Given the description of an element on the screen output the (x, y) to click on. 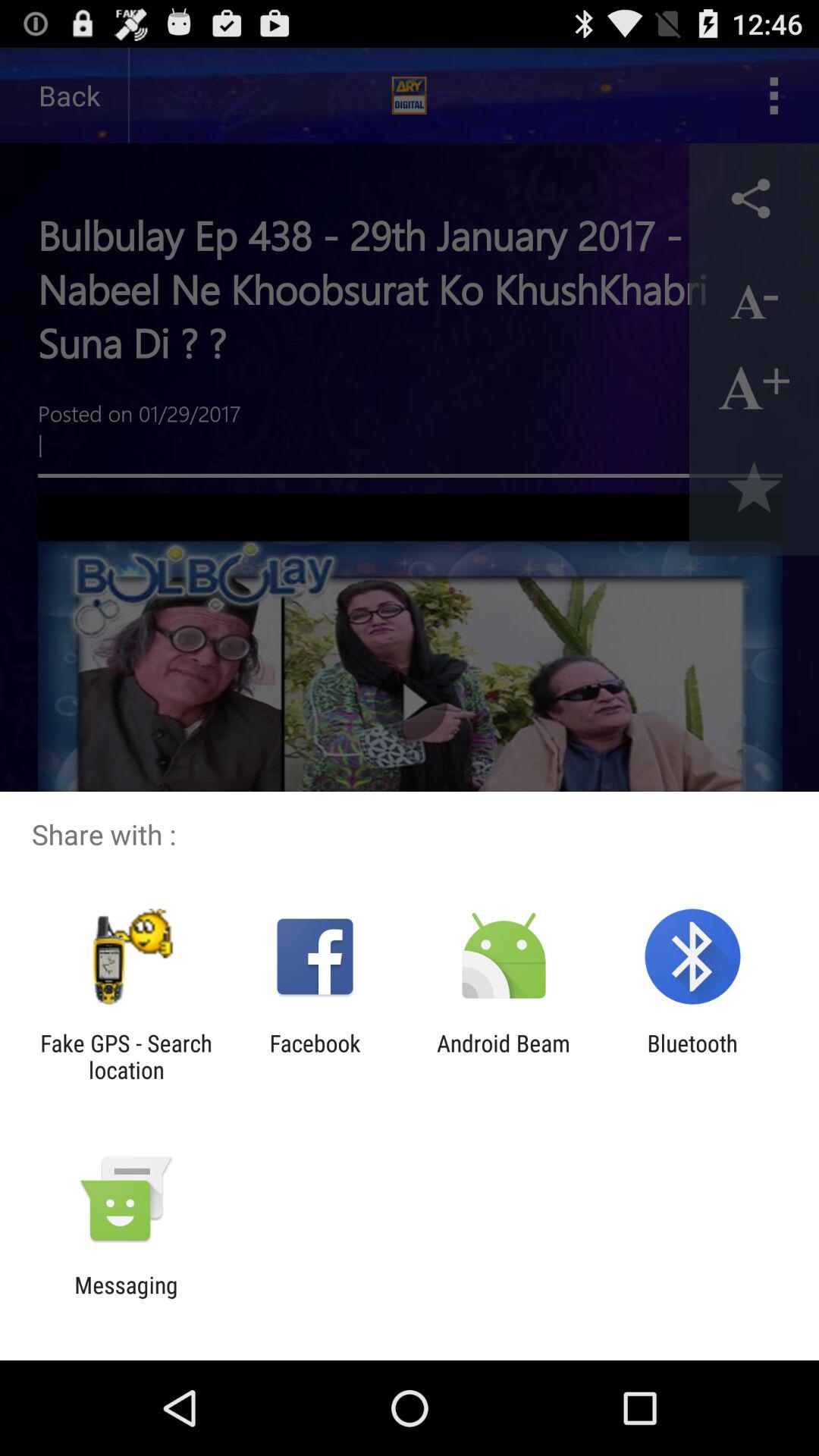
scroll to messaging app (126, 1298)
